Given the description of an element on the screen output the (x, y) to click on. 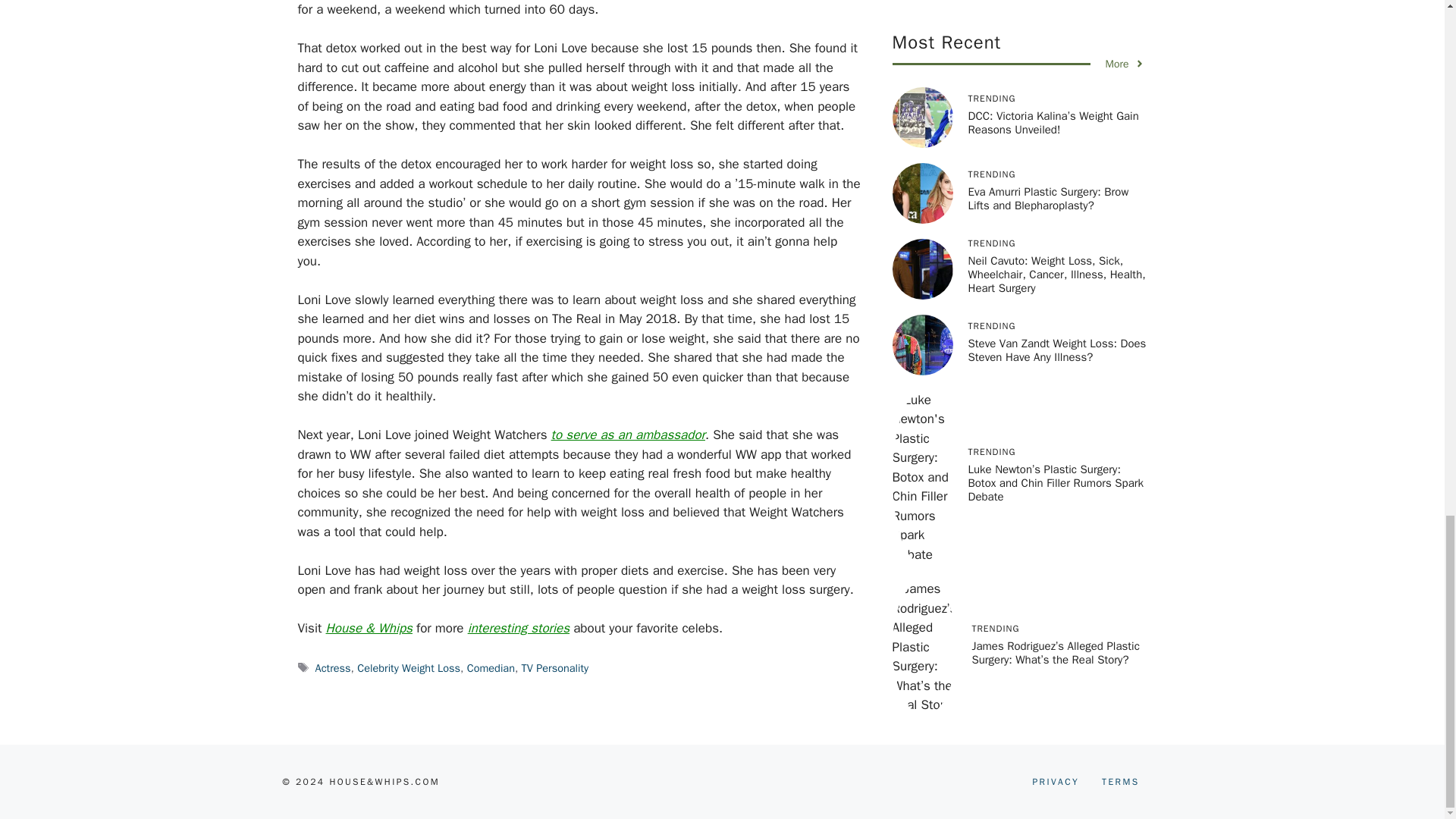
Actress (332, 667)
TV Personality (555, 667)
Celebrity Weight Loss (408, 667)
interesting stories (518, 627)
to serve as an ambassador (627, 434)
Comedian (491, 667)
